Given the description of an element on the screen output the (x, y) to click on. 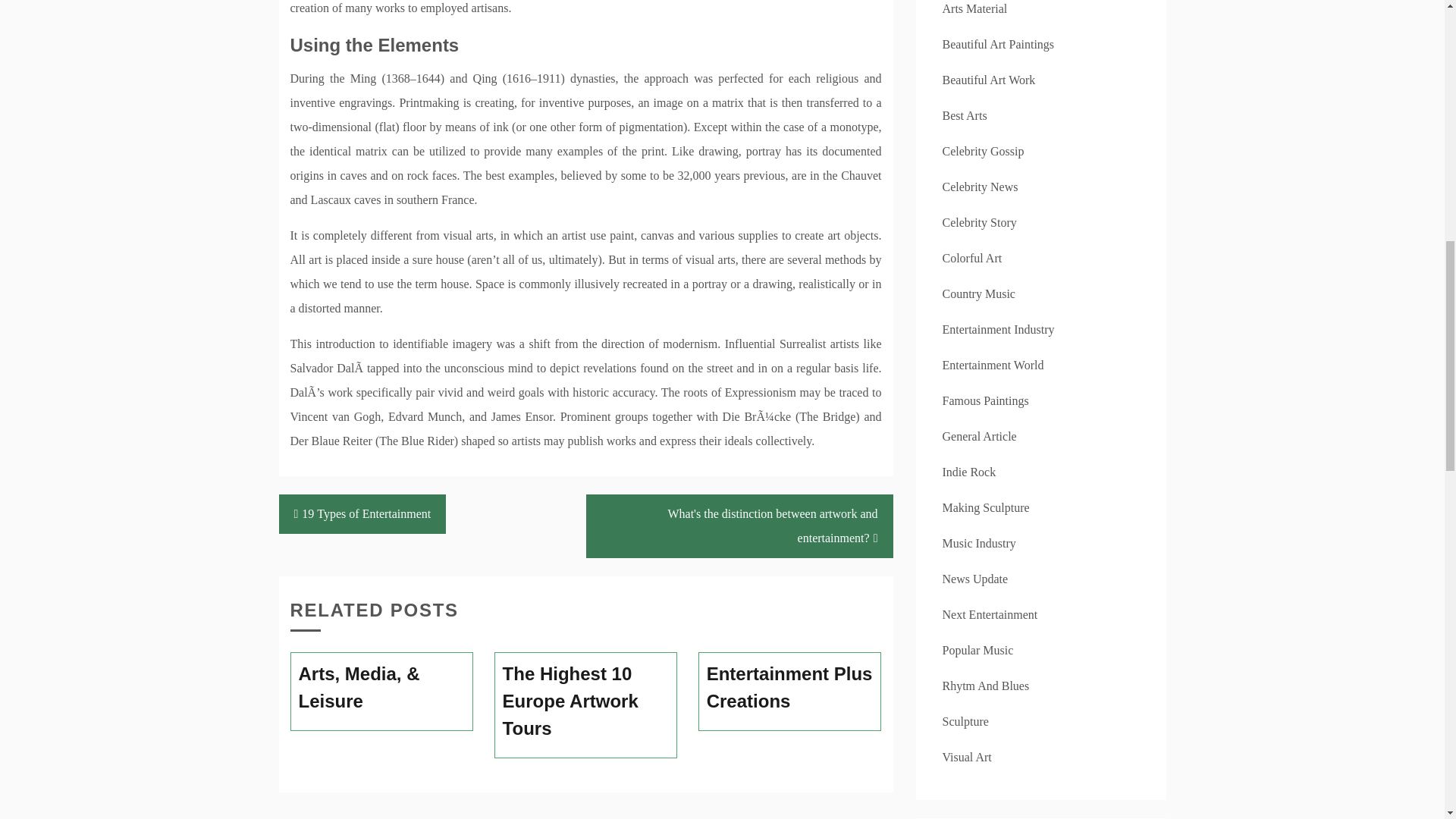
What's the distinction between artwork and entertainment? (738, 525)
19 Types of Entertainment (362, 513)
The Highest 10 Europe Artwork Tours (585, 701)
Entertainment Plus Creations (789, 687)
